Given the description of an element on the screen output the (x, y) to click on. 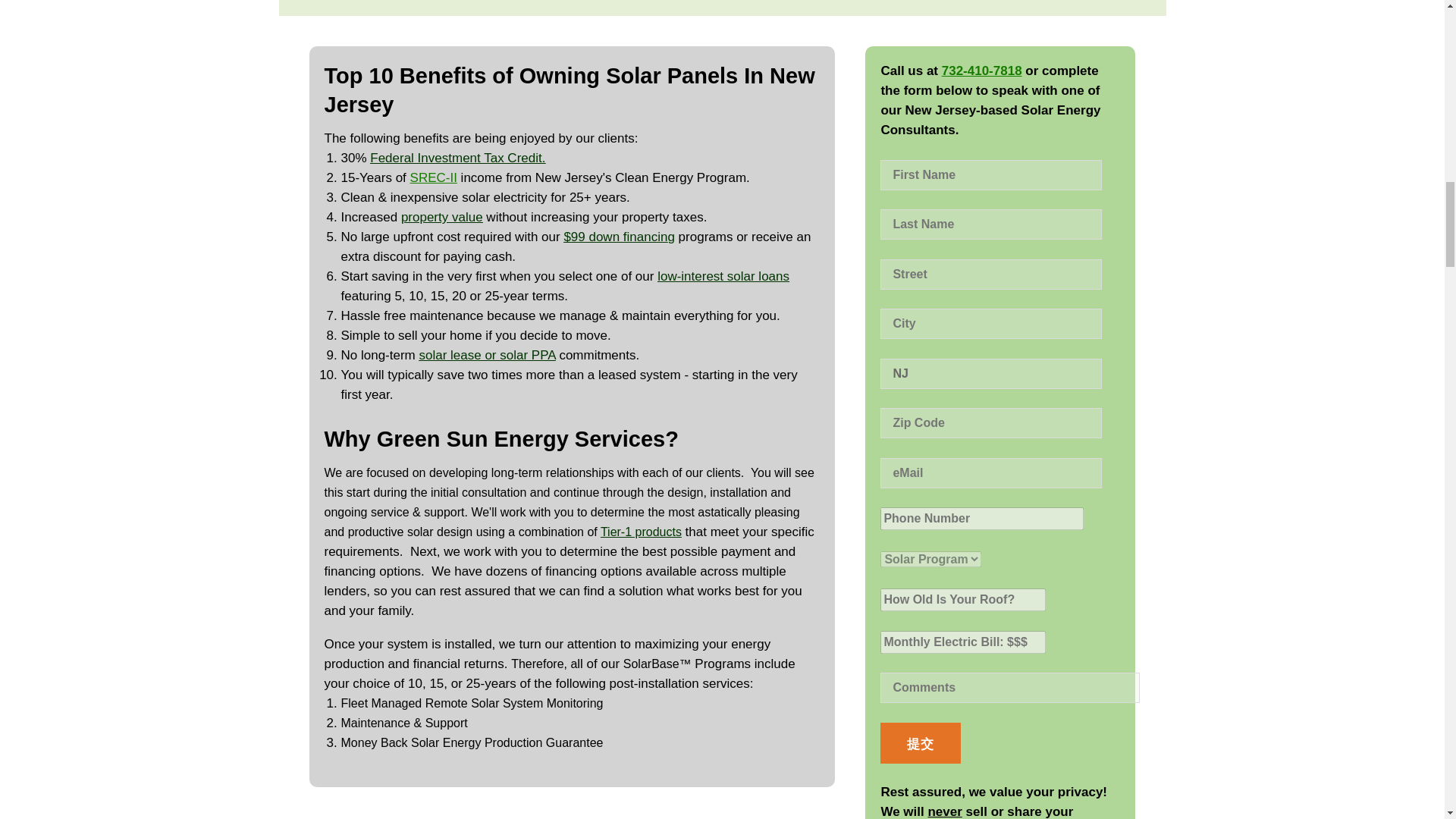
NJ (991, 373)
